Given the description of an element on the screen output the (x, y) to click on. 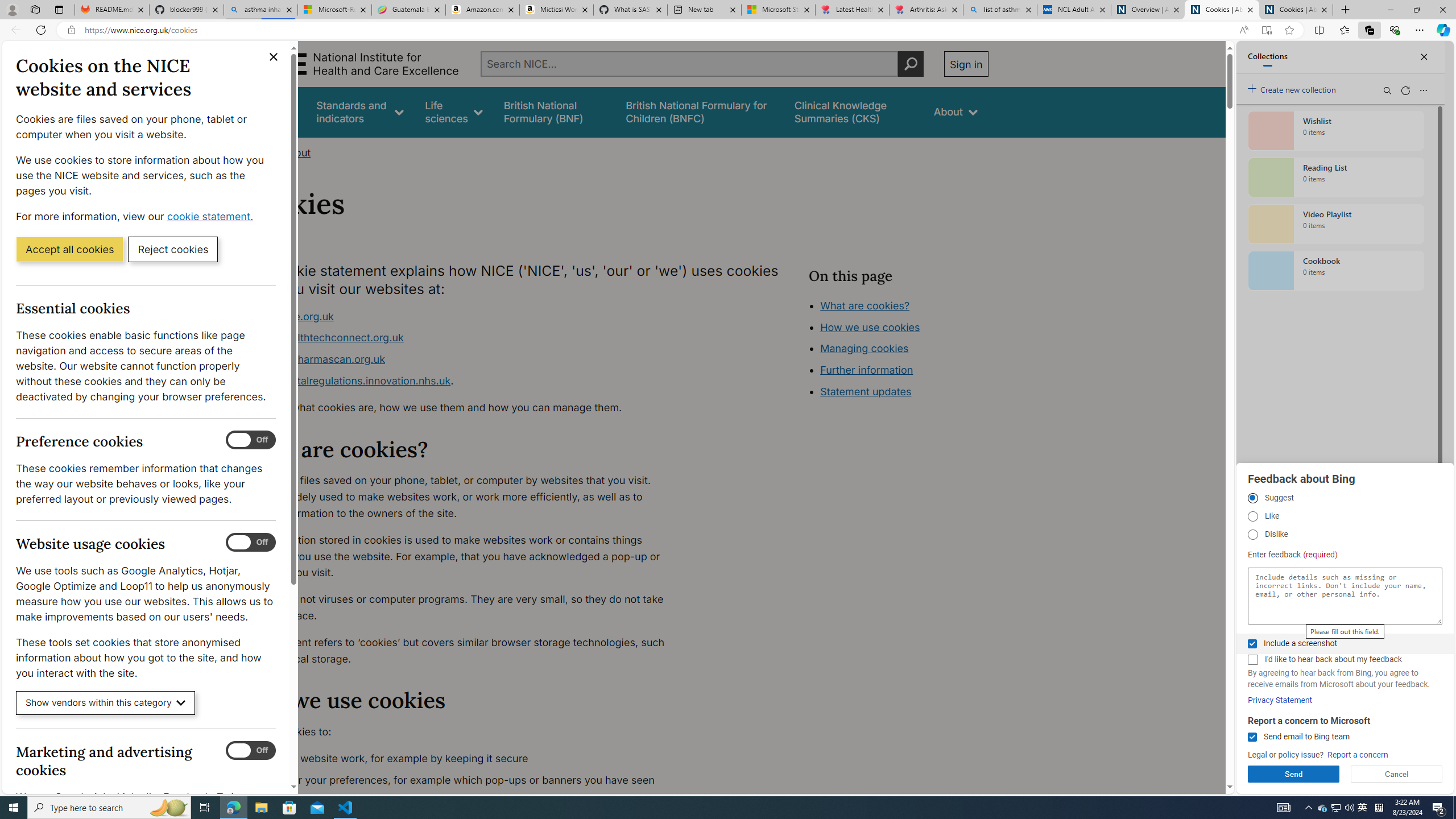
Close (1442, 9)
Guidance (272, 111)
I'd like to hear back about my feedback (1252, 659)
Favorites (1344, 29)
www.nice.org.uk (292, 315)
Tab actions menu (58, 9)
NCL Adult Asthma Inhaler Choice Guideline (1073, 9)
Microsoft-Report a Concern to Bing (334, 9)
Workspaces (34, 9)
www.ukpharmascan.org.uk (318, 359)
Personal Profile (12, 9)
Arthritis: Ask Health Professionals (925, 9)
Show vendors within this category (105, 703)
